Given the description of an element on the screen output the (x, y) to click on. 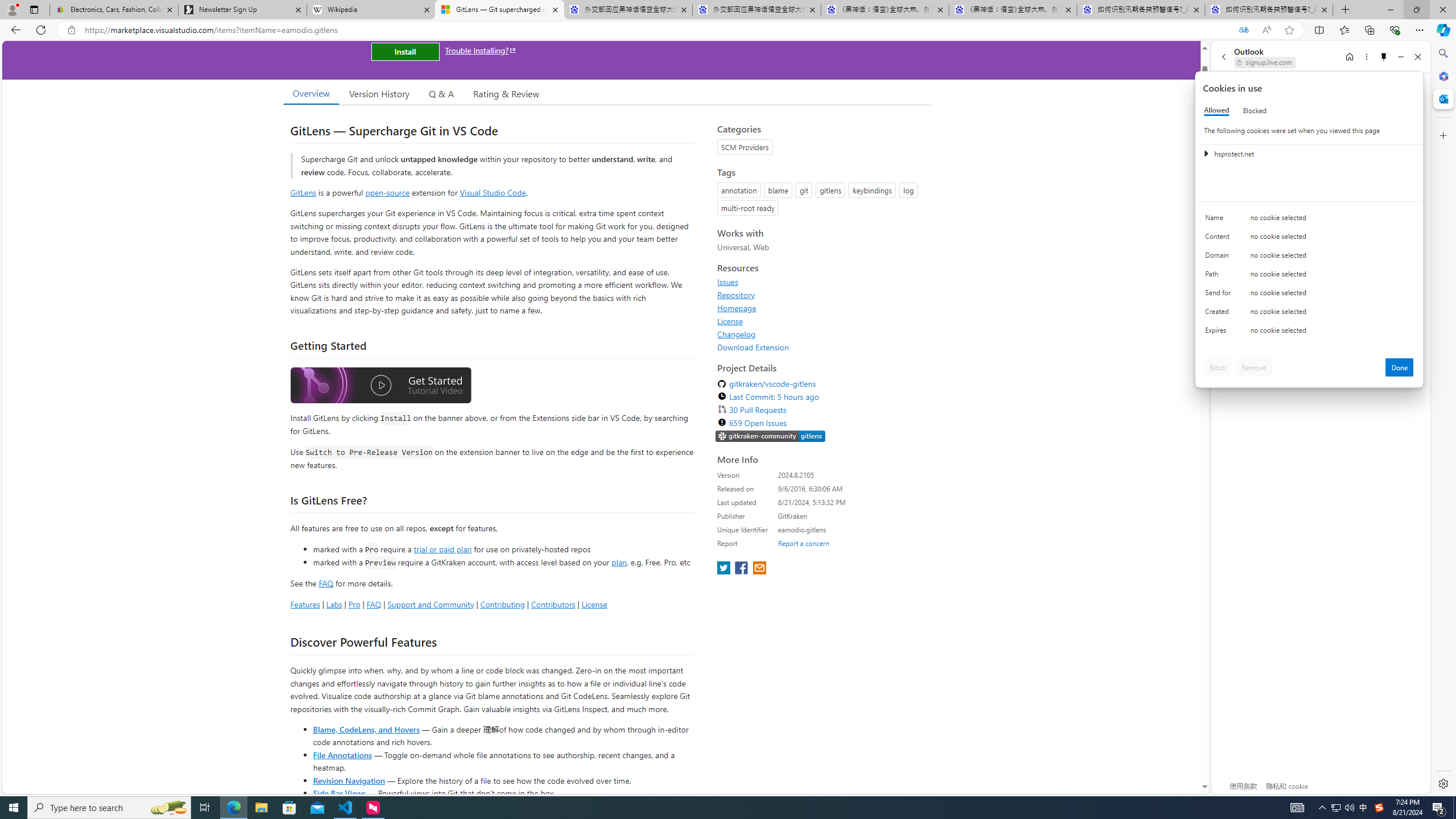
License (820, 320)
Wikipedia (370, 9)
Allowed (1216, 110)
GitLens (303, 192)
Repository (735, 294)
Rating & Review (505, 92)
